Given the description of an element on the screen output the (x, y) to click on. 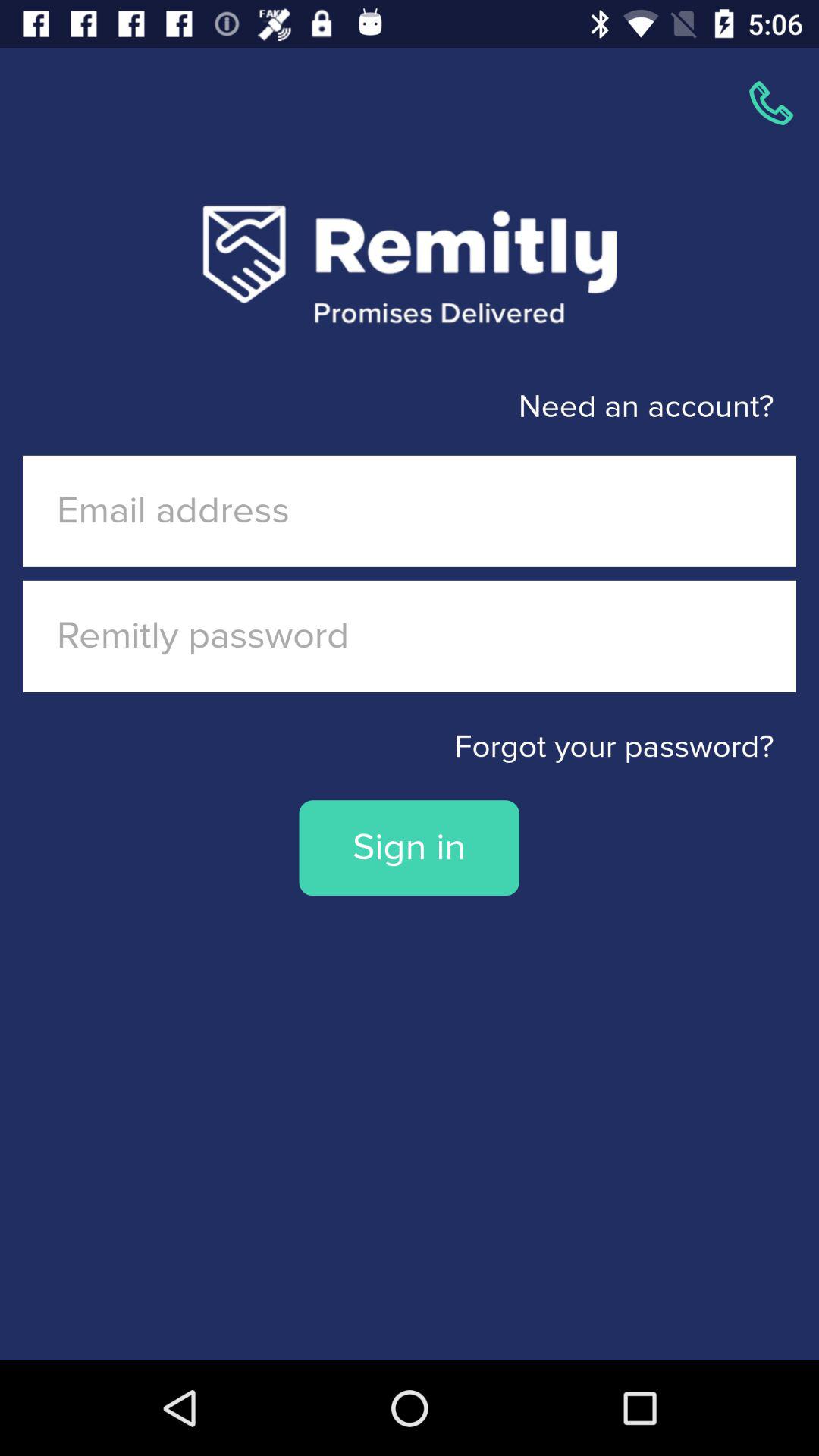
tap sign in item (409, 847)
